Given the description of an element on the screen output the (x, y) to click on. 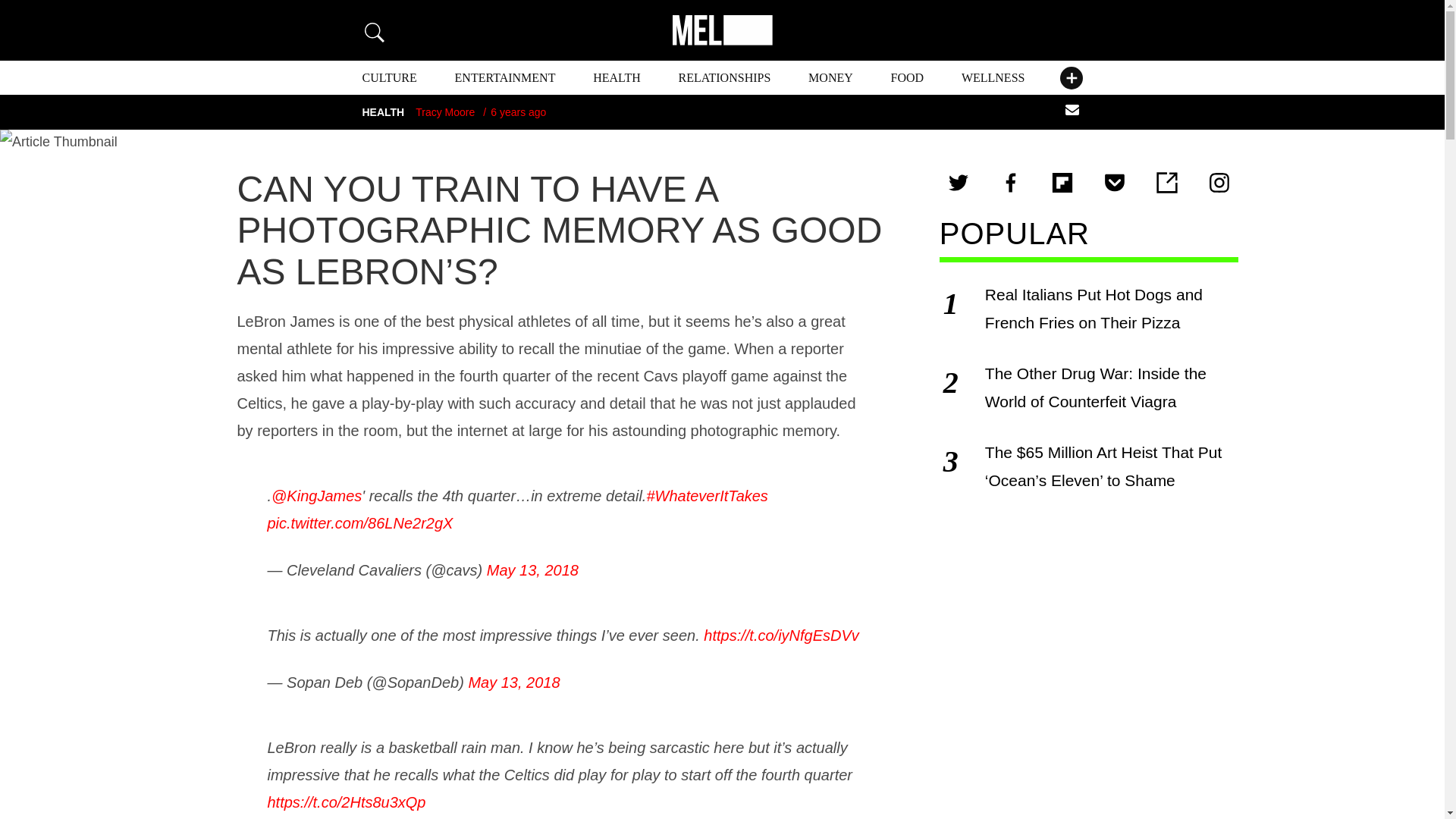
CULTURE (389, 77)
HEALTH (616, 77)
WELLNESS (992, 77)
Posts by Tracy Moore (444, 111)
Twitter (958, 182)
ENTERTAINMENT (505, 77)
MONEY (830, 77)
RELATIONSHIPS (724, 77)
Flipboard (1061, 182)
FOOD (907, 77)
